Given the description of an element on the screen output the (x, y) to click on. 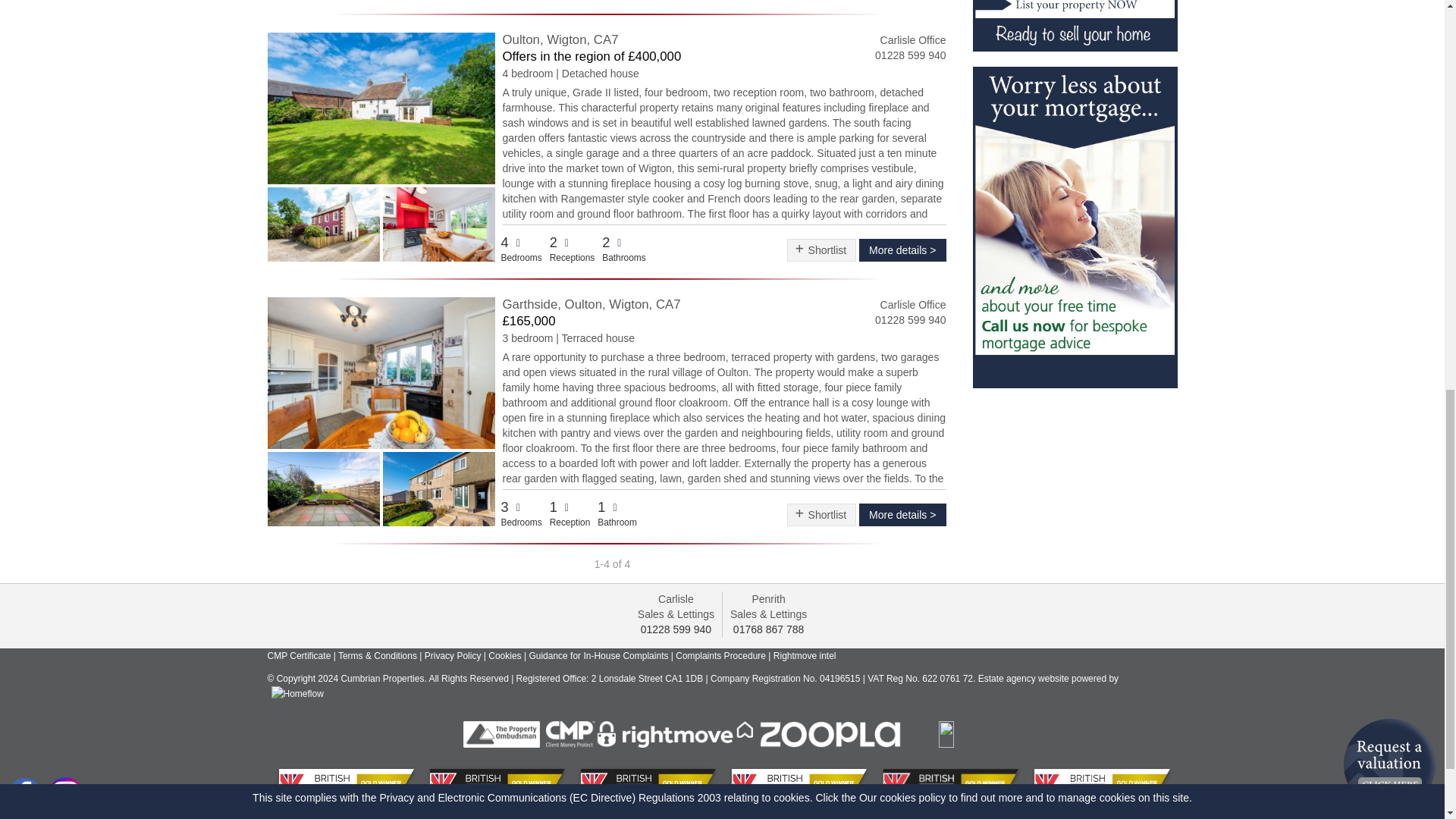
Mortgage Advice (1074, 226)
Estate agency website design (1049, 678)
